Given the description of an element on the screen output the (x, y) to click on. 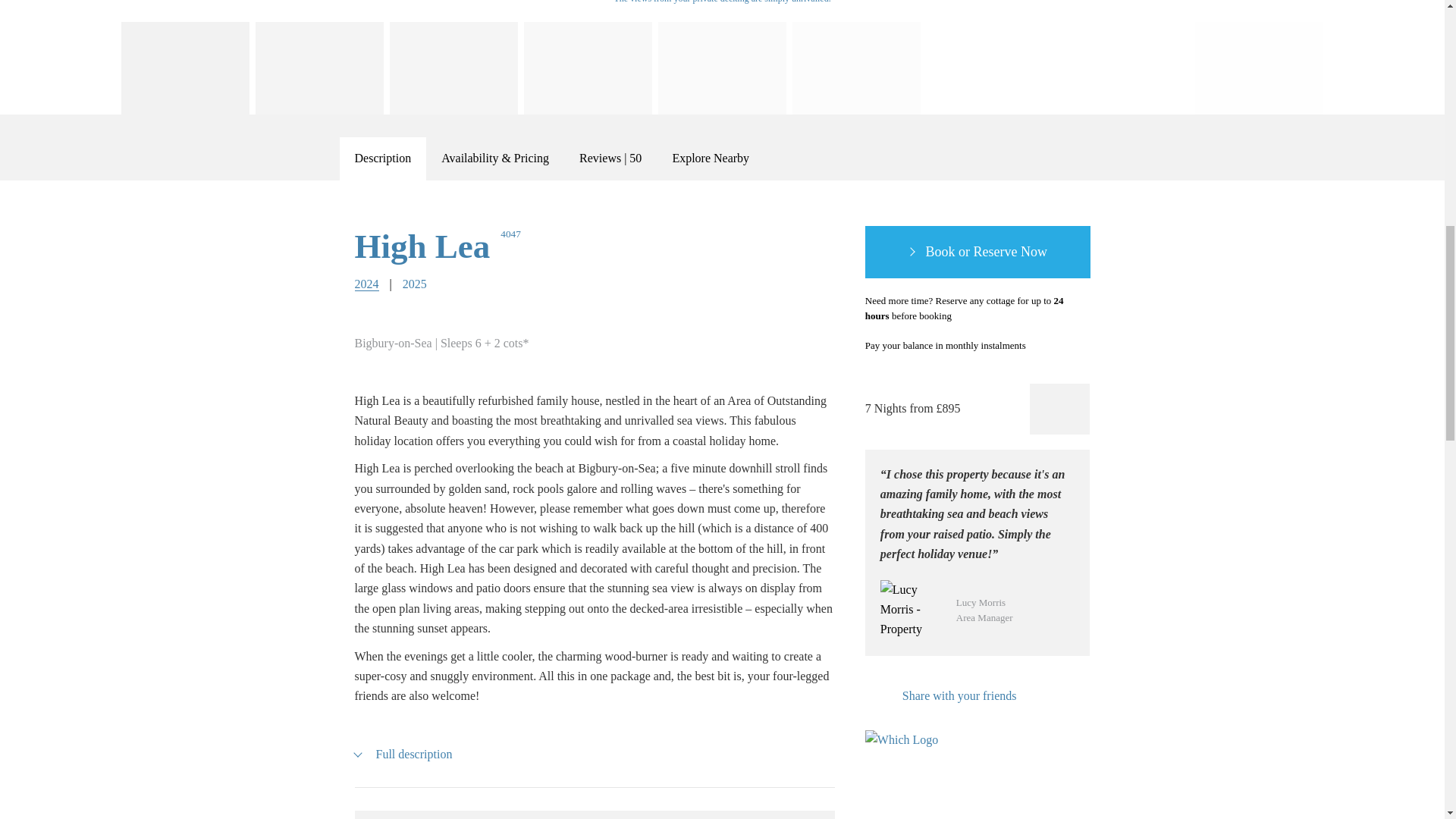
2025 (414, 283)
Classic Cottages is a Which? Recommended Provider (908, 758)
Share with your friends (940, 695)
Book or Reserve (977, 252)
Part Payment Information (1042, 345)
Full description (403, 754)
Description (382, 158)
2024 (366, 284)
Explore Nearby (710, 158)
